Given the description of an element on the screen output the (x, y) to click on. 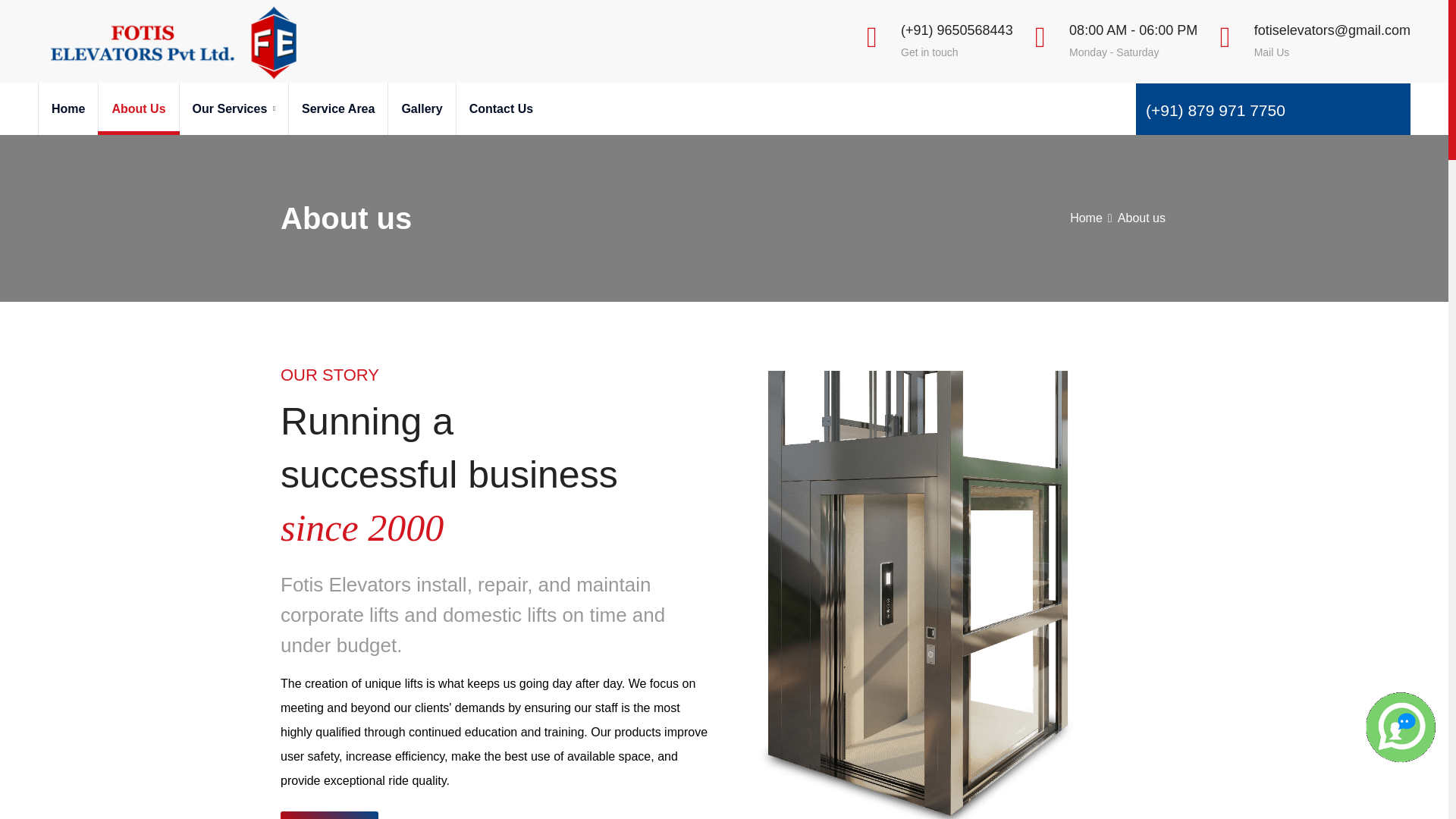
Our Services (233, 108)
Contact Us (500, 108)
Service Area (337, 108)
Service Area (337, 108)
Gallery (420, 108)
Fotis Elevators Pvt Ltd (170, 41)
Home (67, 108)
About Us (137, 108)
Gallery (420, 108)
Home (1086, 217)
